Given the description of an element on the screen output the (x, y) to click on. 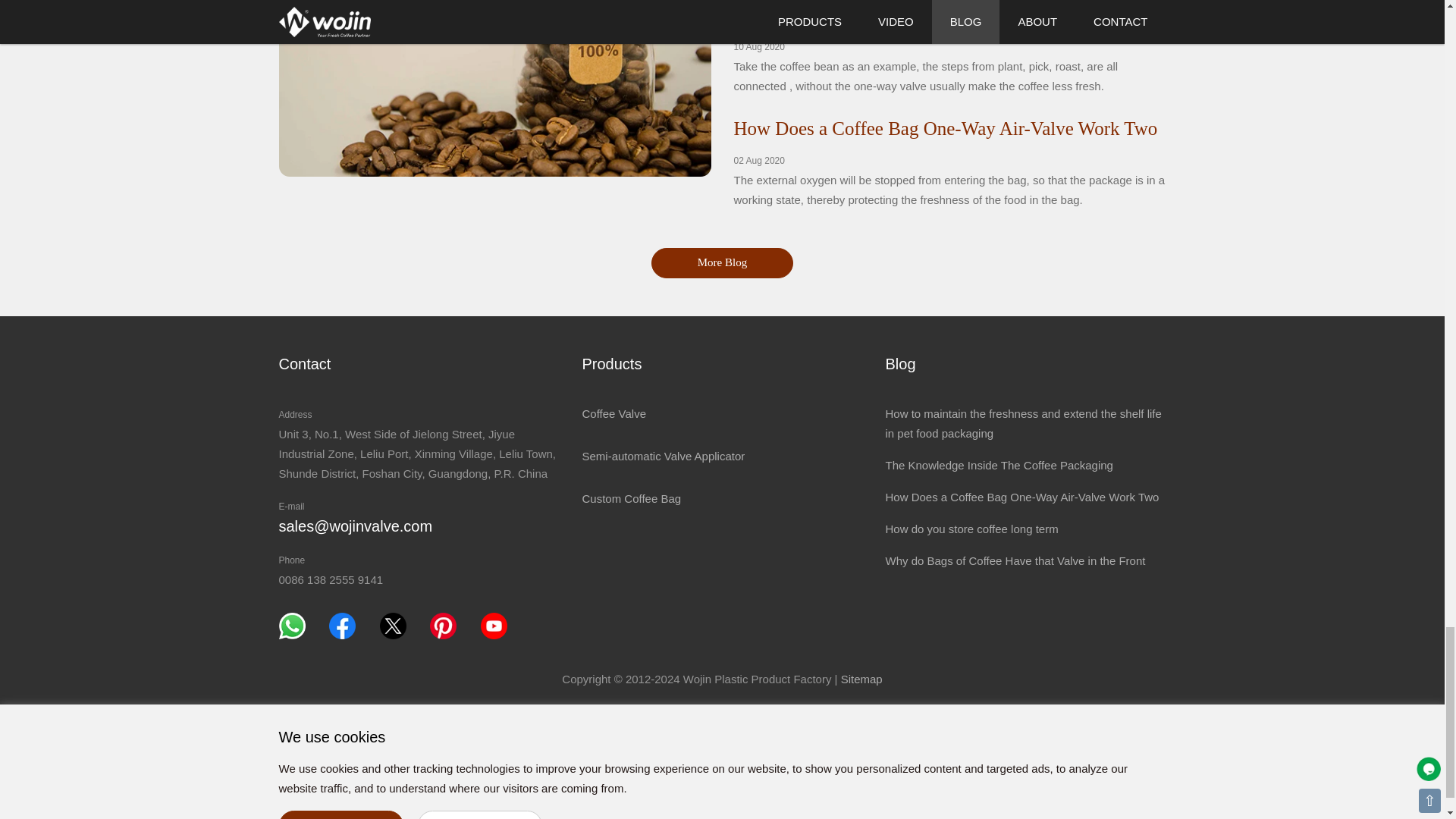
The Knowledge Inside The Coffee Packaging (998, 464)
Coffee Valve (613, 413)
How Does a Coffee Bag One-Way Air-Valve Work Two (945, 127)
Semi-automatic Valve Applicator (662, 455)
Why do Bags of Coffee Have that Valve in the Front (1014, 560)
Sitemap (861, 678)
More Blog (721, 262)
The Knowledge Inside The Coffee Packaging (906, 14)
The Knowledge Inside The Coffee Packaging (906, 14)
Custom Coffee Bag (630, 498)
How Does a Coffee Bag One-Way Air-Valve Work Two (945, 127)
How Does a Coffee Bag One-Way Air-Valve Work Two (1021, 496)
How do you store coffee long term (971, 528)
